Given the description of an element on the screen output the (x, y) to click on. 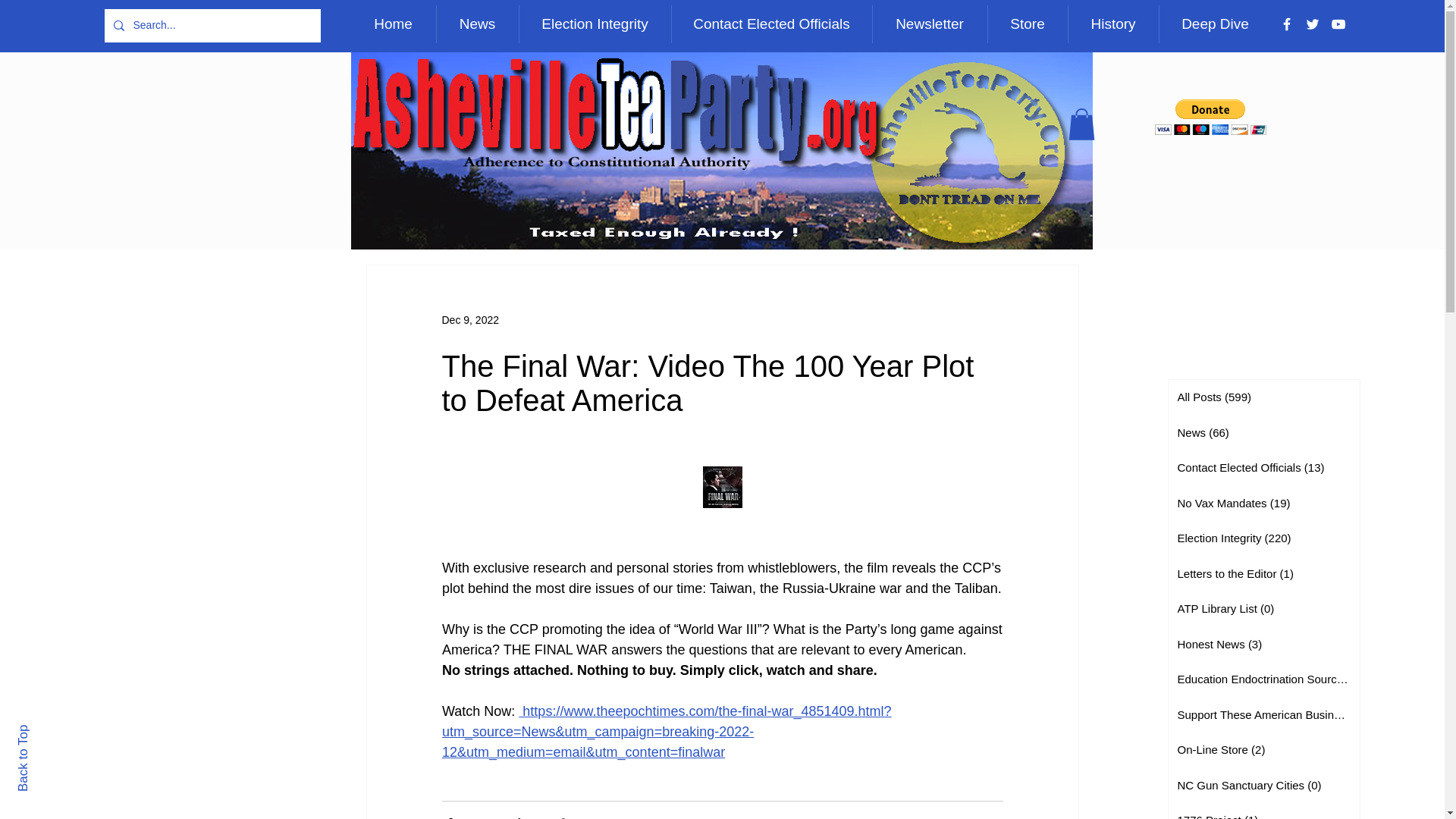
Dec 9, 2022 (470, 319)
Support These American Businesses (1262, 715)
Store (1027, 23)
Contact Elected Officials (769, 23)
Action Alerts (973, 818)
Education Endoctrination Sources (1262, 679)
Deep Dive (1214, 23)
News (476, 23)
Home (392, 23)
History (1112, 23)
Newsletter (929, 23)
Election Integrity (594, 23)
